Given the description of an element on the screen output the (x, y) to click on. 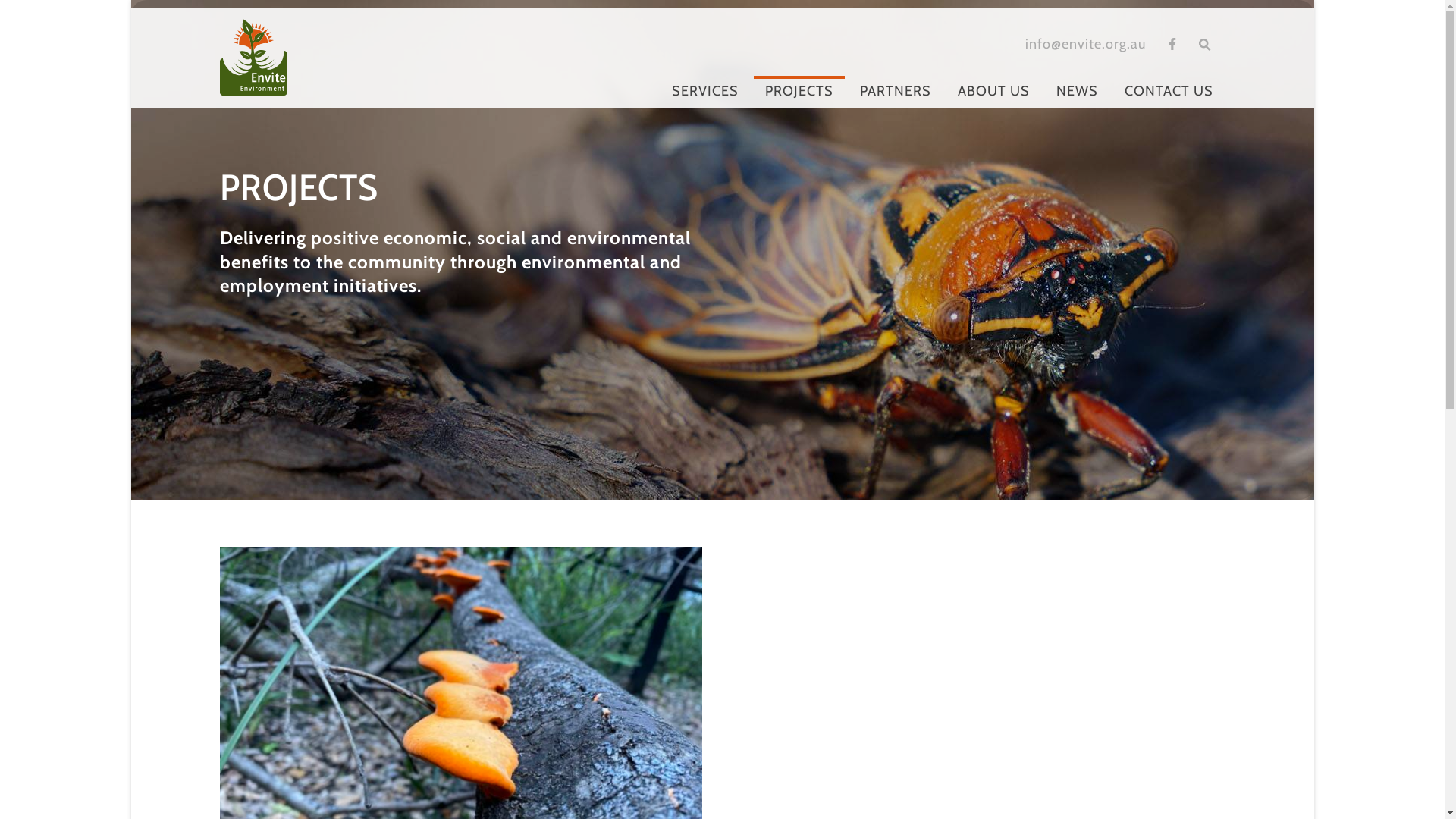
SERVICES Element type: text (704, 92)
NEWS Element type: text (1076, 92)
PARTNERS Element type: text (895, 92)
facebook Element type: hover (1172, 43)
info@envite.org.au Element type: text (1085, 44)
CONTACT US Element type: text (1168, 92)
PROJECTS Element type: text (798, 92)
Search Element type: text (21, 7)
ABOUT US Element type: text (993, 92)
